Given the description of an element on the screen output the (x, y) to click on. 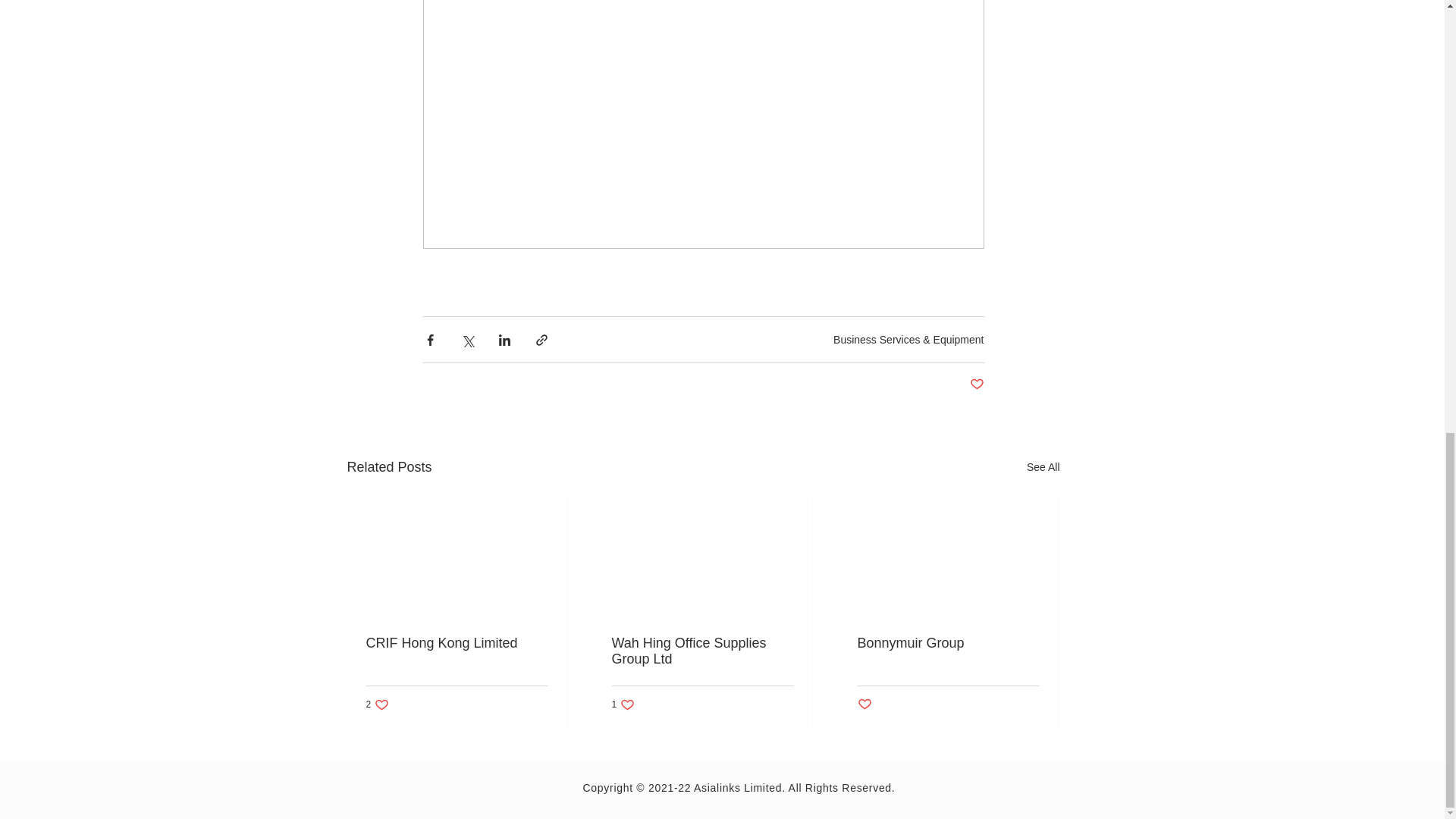
CRIF Hong Kong Limited (456, 643)
See All (1042, 467)
Wah Hing Office Supplies Group Ltd (702, 651)
Post not marked as liked (863, 704)
Bonnymuir Group (376, 704)
Post not marked as liked (948, 643)
